Given the description of an element on the screen output the (x, y) to click on. 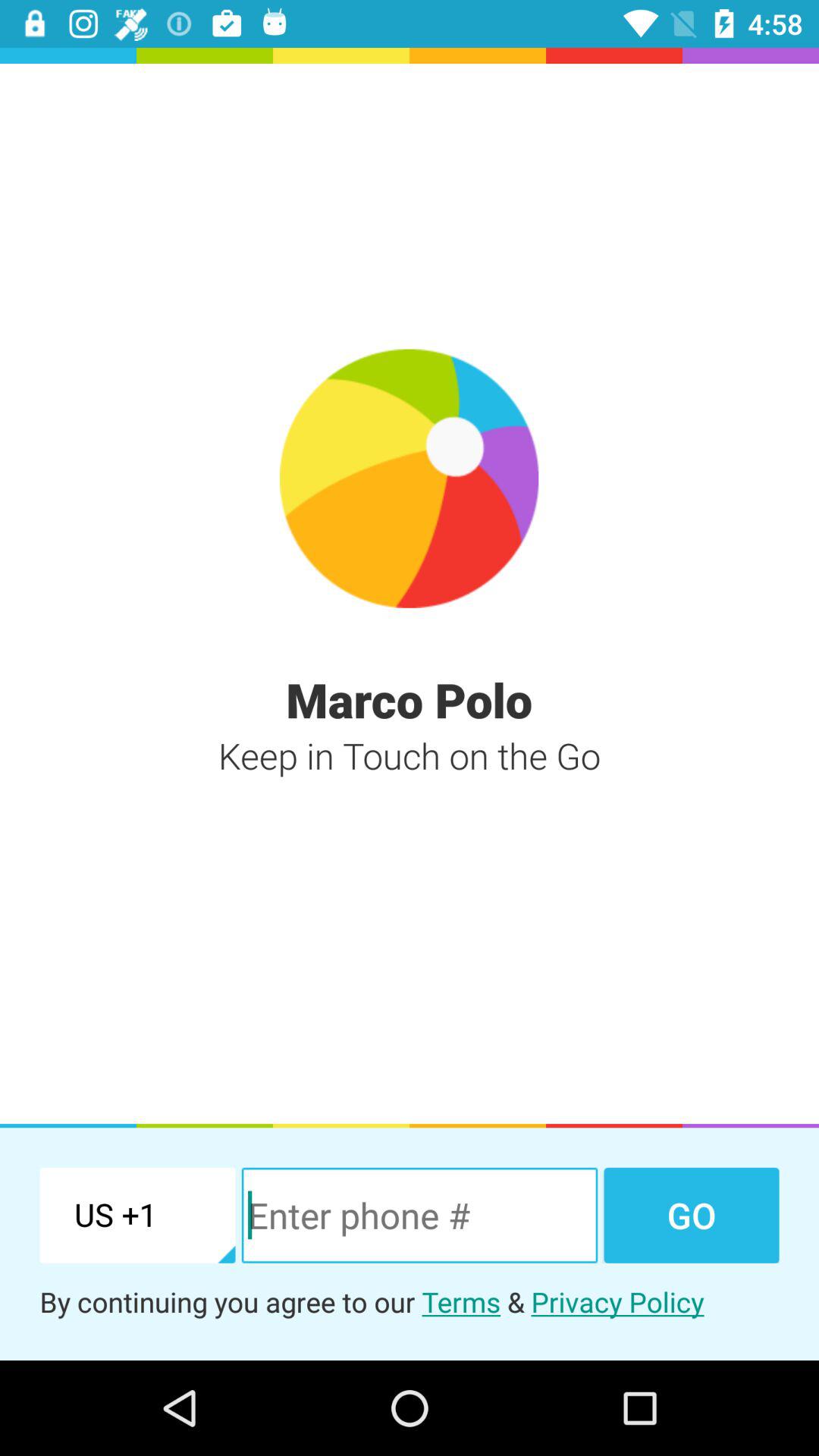
tap the item to the left of the go item (419, 1215)
